Given the description of an element on the screen output the (x, y) to click on. 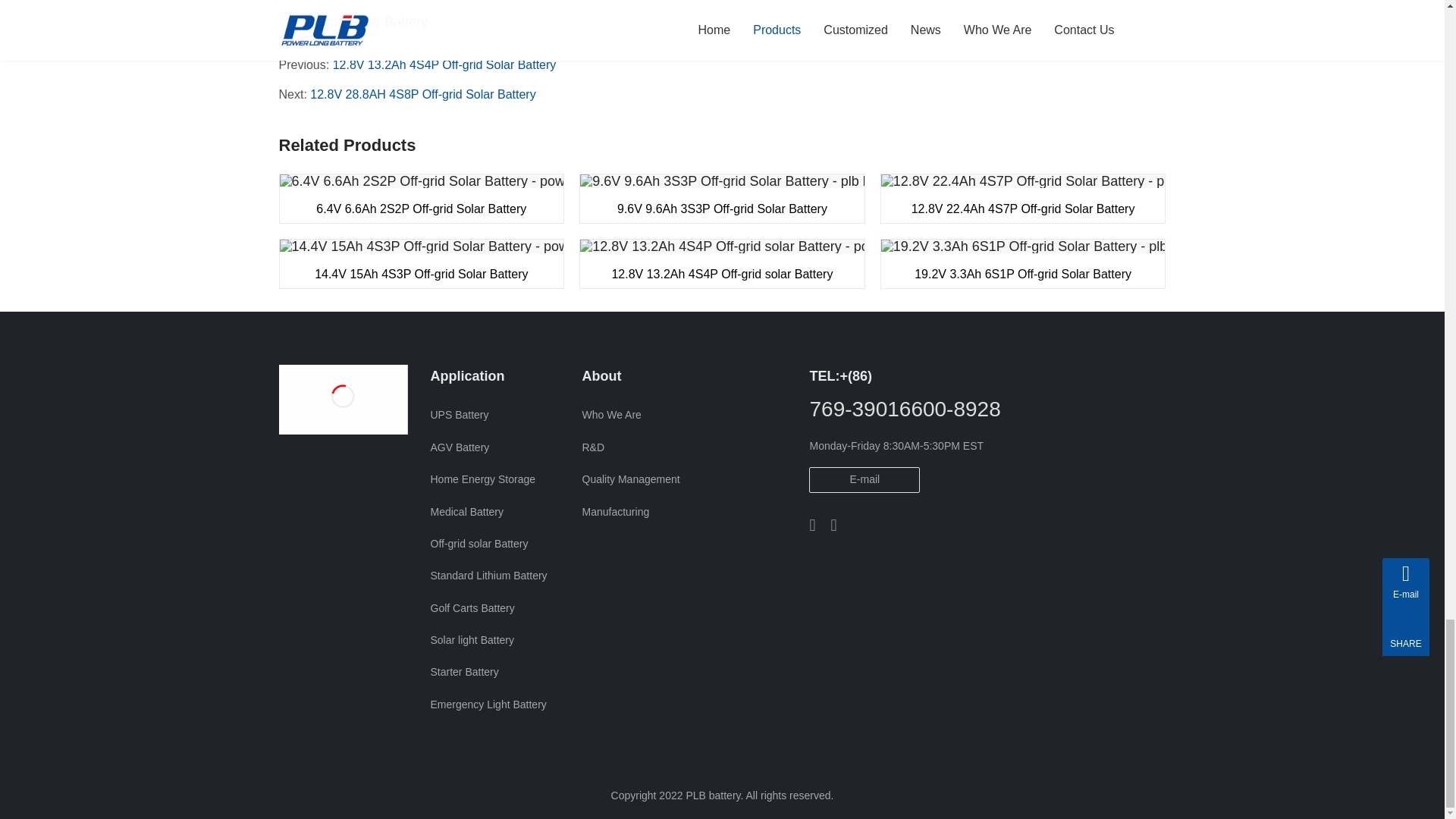
14.4V 15Ah 4S3P Off-grid Solar Battery (421, 263)
12.8V 13.2Ah 4S4P Off-grid solar Battery (721, 263)
12.8V 22.4Ah 4S7P Off-grid Solar Battery (1023, 198)
9.6V 9.6Ah 3S3P Off-grid Solar Battery (721, 198)
6.4V 6.6Ah 2S2P Off-grid Solar Battery (421, 198)
19.2V 3.3Ah 6S1P Off-grid Solar Battery (1023, 263)
